Given the description of an element on the screen output the (x, y) to click on. 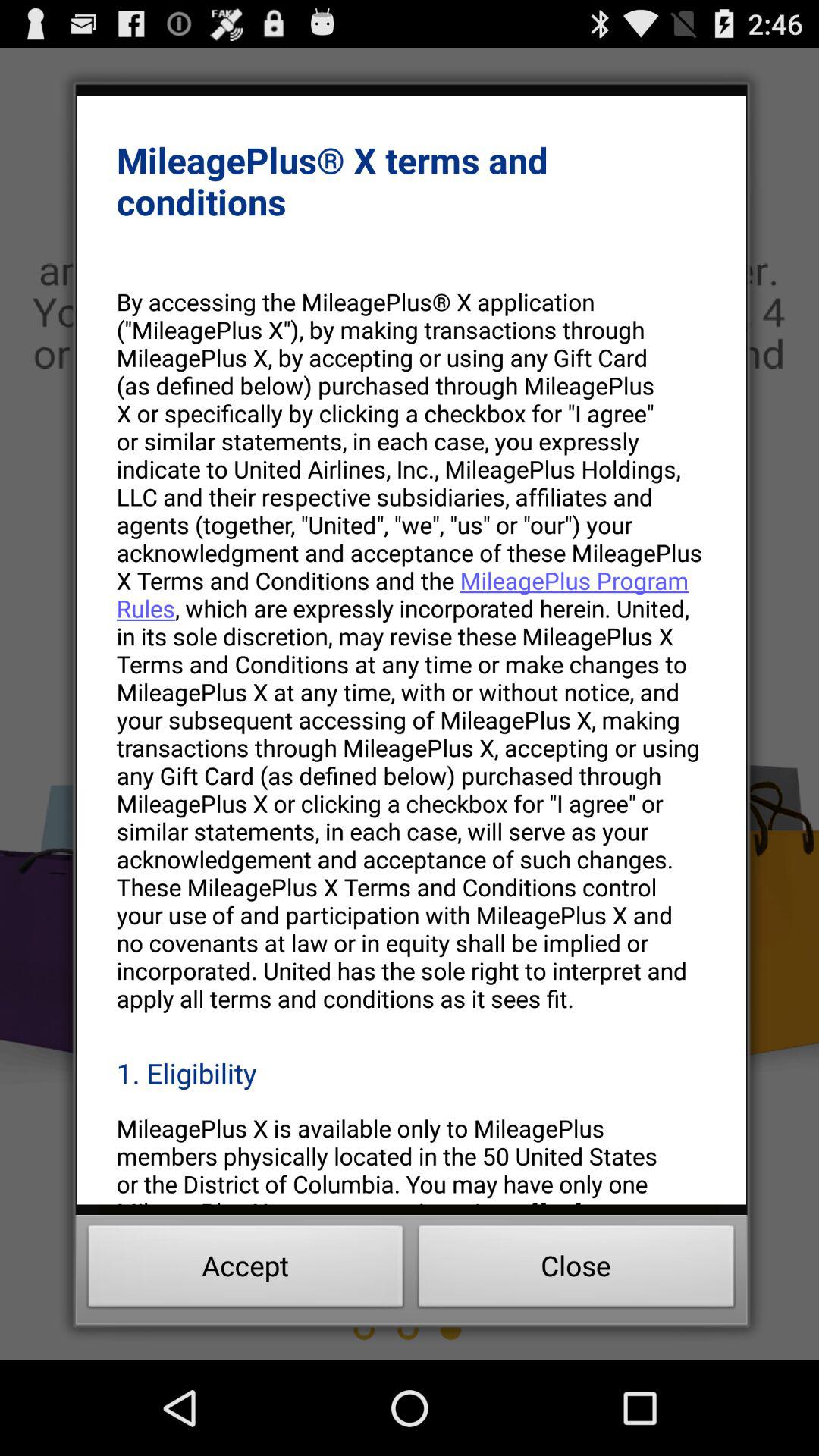
flip to the by accessing the item (411, 649)
